Given the description of an element on the screen output the (x, y) to click on. 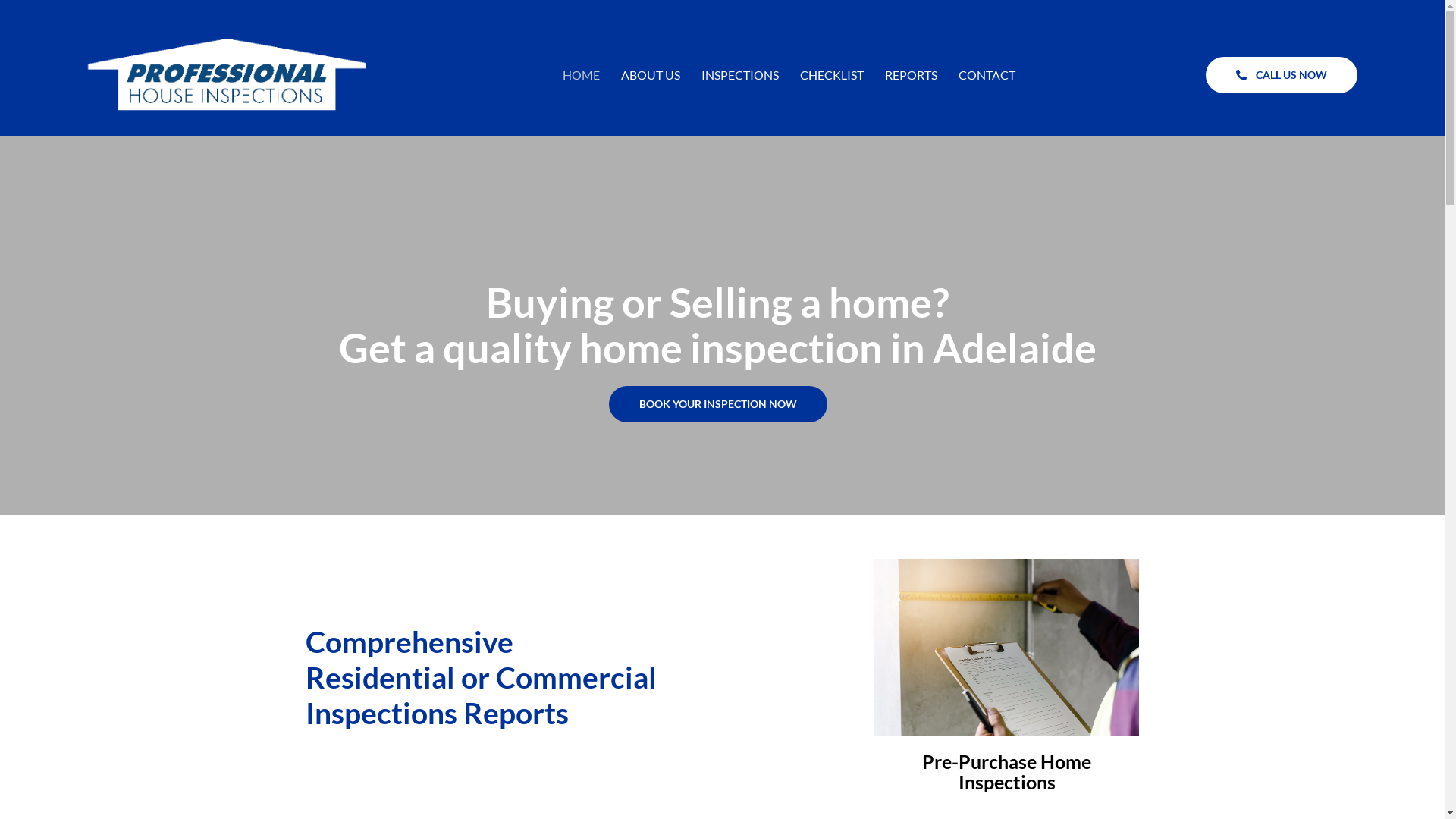
Pre-Purchase Home Inspections Element type: text (1006, 744)
INSPECTIONS Element type: text (739, 61)
BOOK YOUR INSPECTION NOW Element type: text (717, 376)
REPORTS Element type: text (910, 61)
HOME Element type: text (581, 61)
CHECKLIST Element type: text (831, 61)
ABOUT US Element type: text (650, 61)
CONTACT Element type: text (986, 61)
CALL US NOW Element type: text (1281, 61)
